Given the description of an element on the screen output the (x, y) to click on. 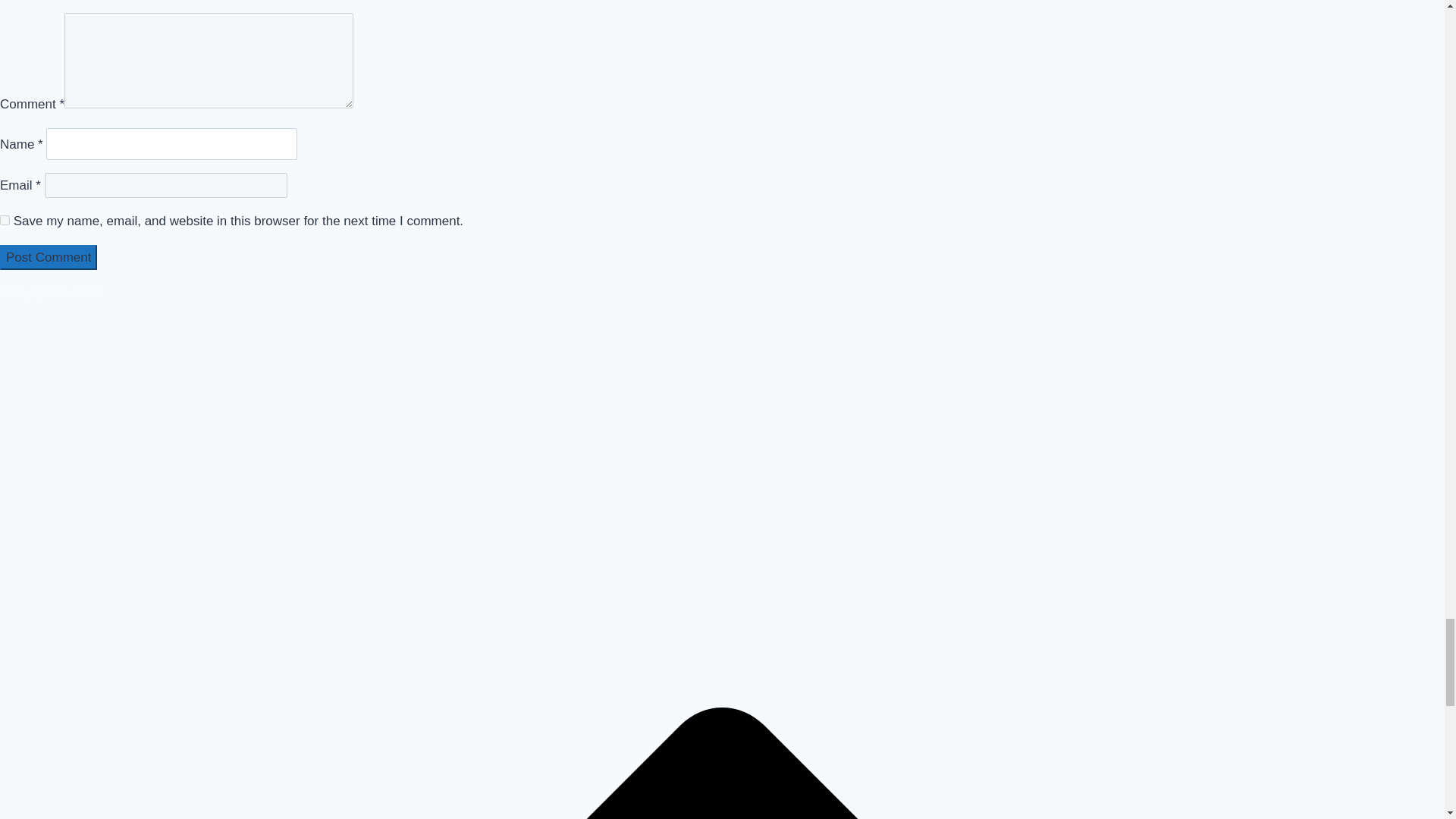
Post Comment (48, 257)
yes (5, 220)
